Given the description of an element on the screen output the (x, y) to click on. 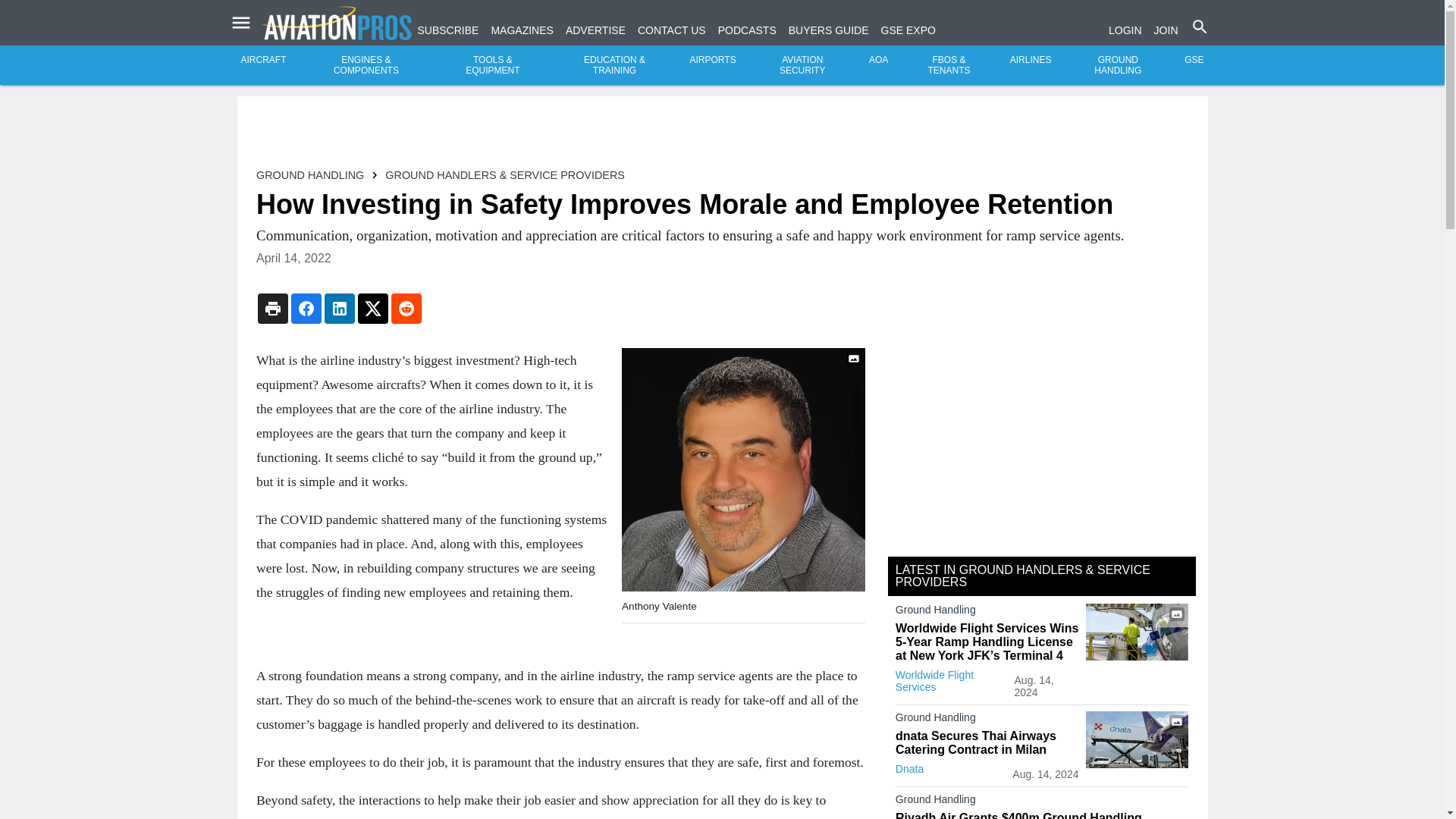
CONTACT US (671, 30)
LOGIN (1124, 30)
GSE (1194, 59)
AVIATION SECURITY (801, 65)
Anthony Valente (742, 469)
AIRCRAFT (263, 59)
GROUND HANDLING (1117, 65)
ADVERTISE (596, 30)
GSE EXPO (908, 30)
AOA (878, 59)
